Given the description of an element on the screen output the (x, y) to click on. 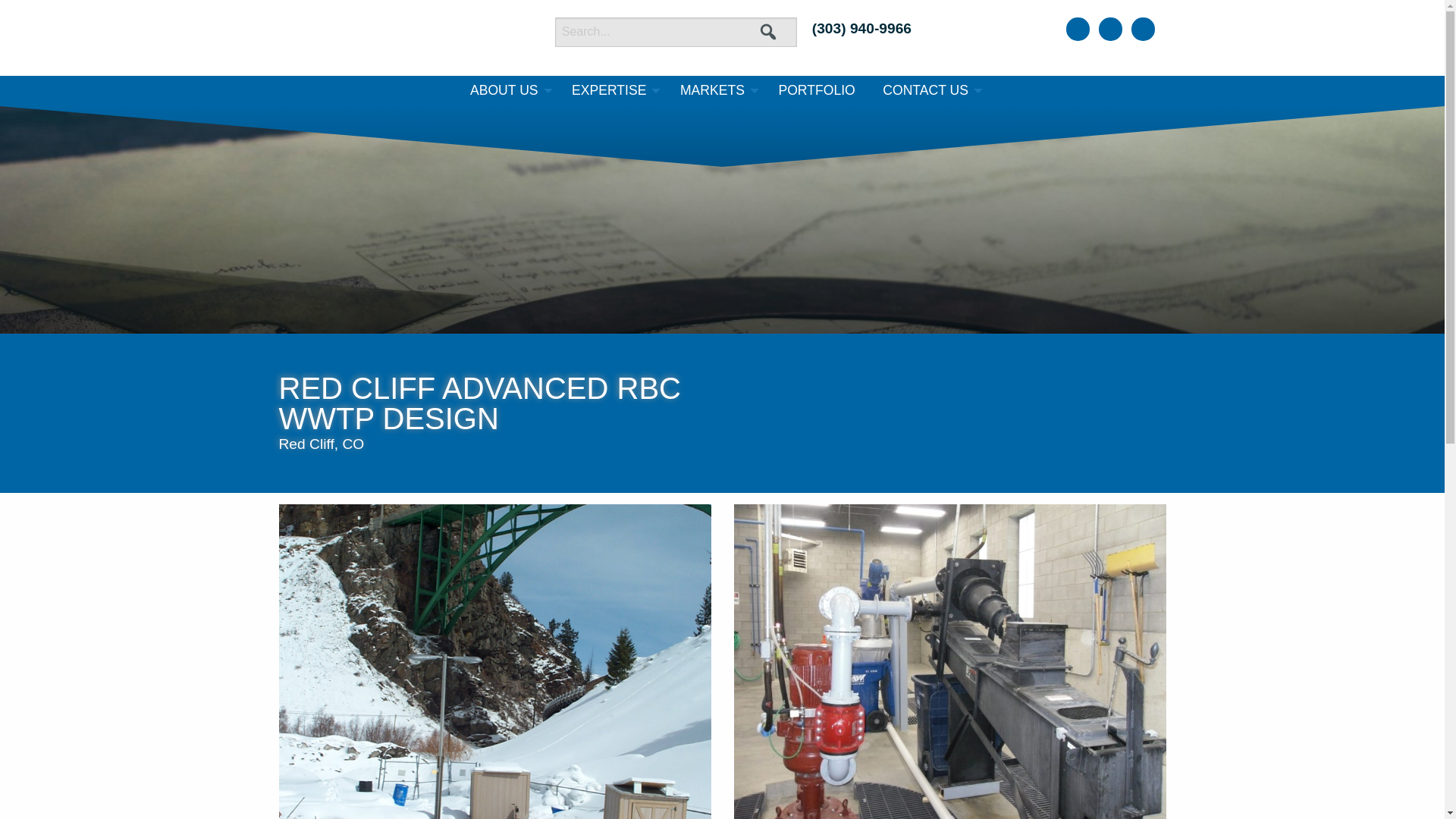
Baseline Corp (398, 37)
ABOUT US (507, 91)
Search for: (675, 30)
EXPERTISE (611, 91)
